Given the description of an element on the screen output the (x, y) to click on. 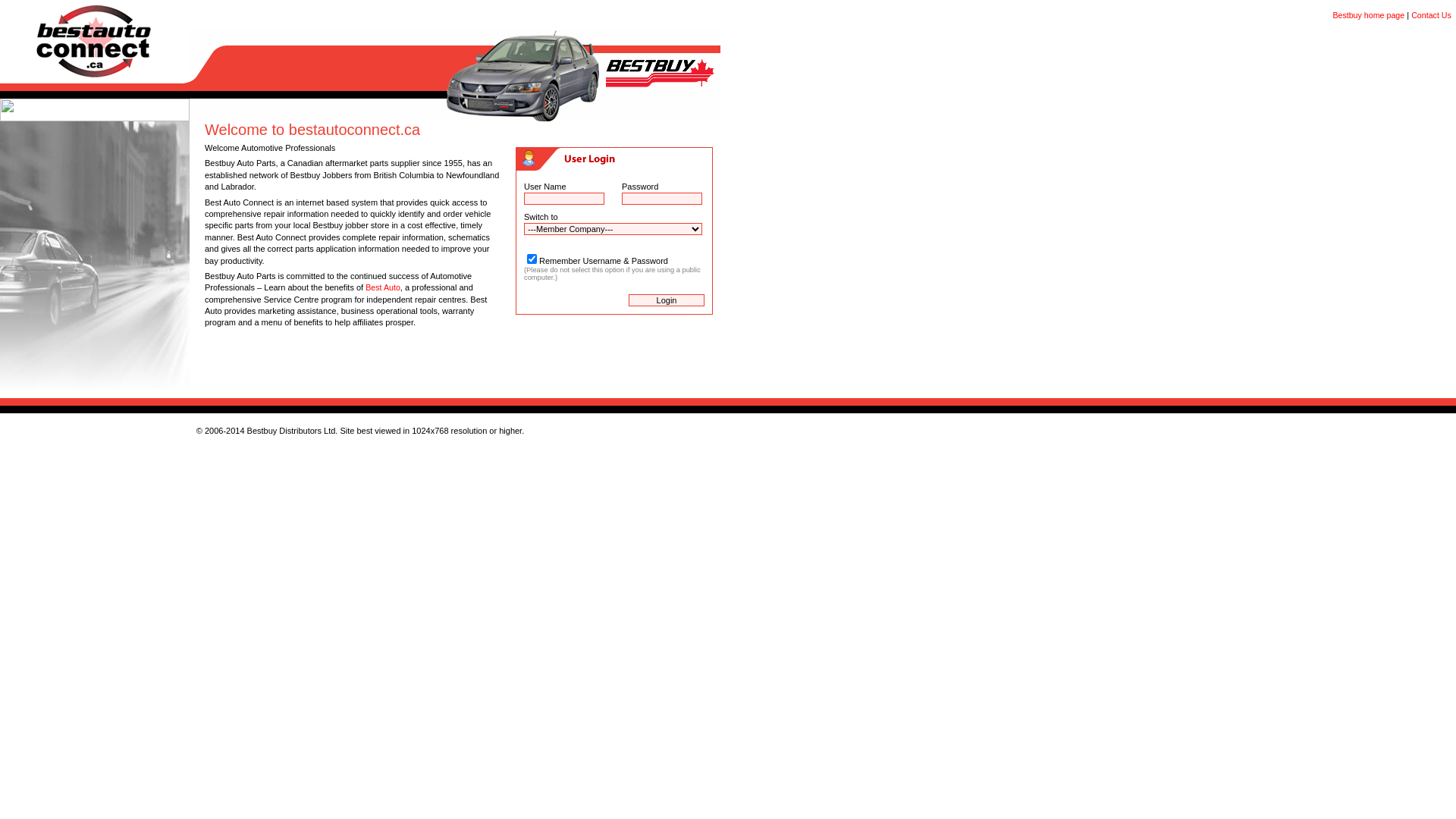
Bestbuy home page Element type: text (1368, 14)
Login Element type: text (666, 300)
Contact Us Element type: text (1431, 14)
Best Auto Element type: text (382, 286)
